Given the description of an element on the screen output the (x, y) to click on. 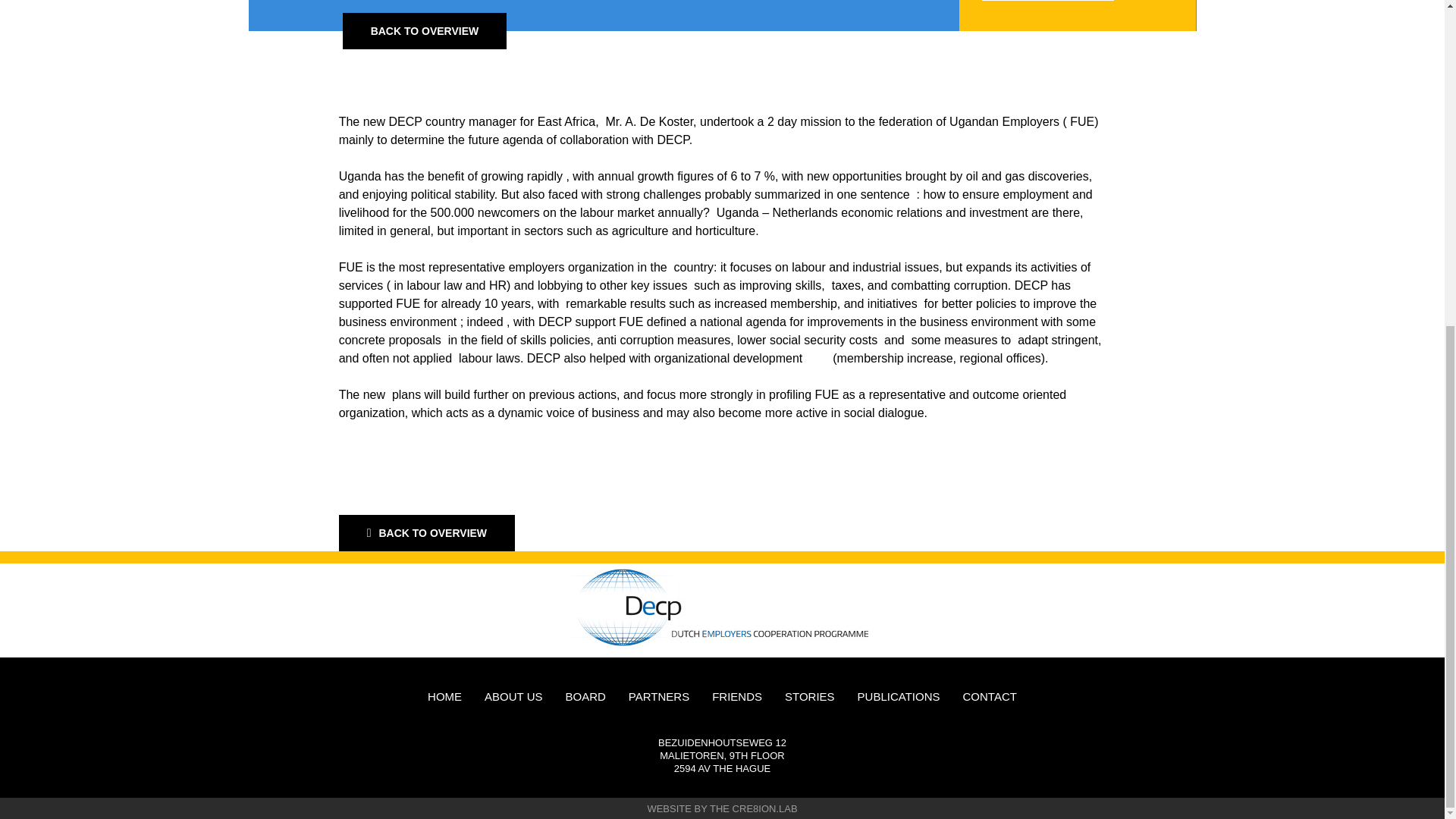
STORIES (809, 696)
PARTNERS (658, 696)
BACK TO OVERVIEW (424, 31)
BOARD (585, 696)
BACK TO OVERVIEW (427, 533)
WEBSITE BY THE CRE8ION.LAB (721, 808)
HOME (444, 696)
CONTACT (989, 696)
ABOUT US (512, 696)
PUBLICATIONS (898, 696)
FRIENDS (736, 696)
